Given the description of an element on the screen output the (x, y) to click on. 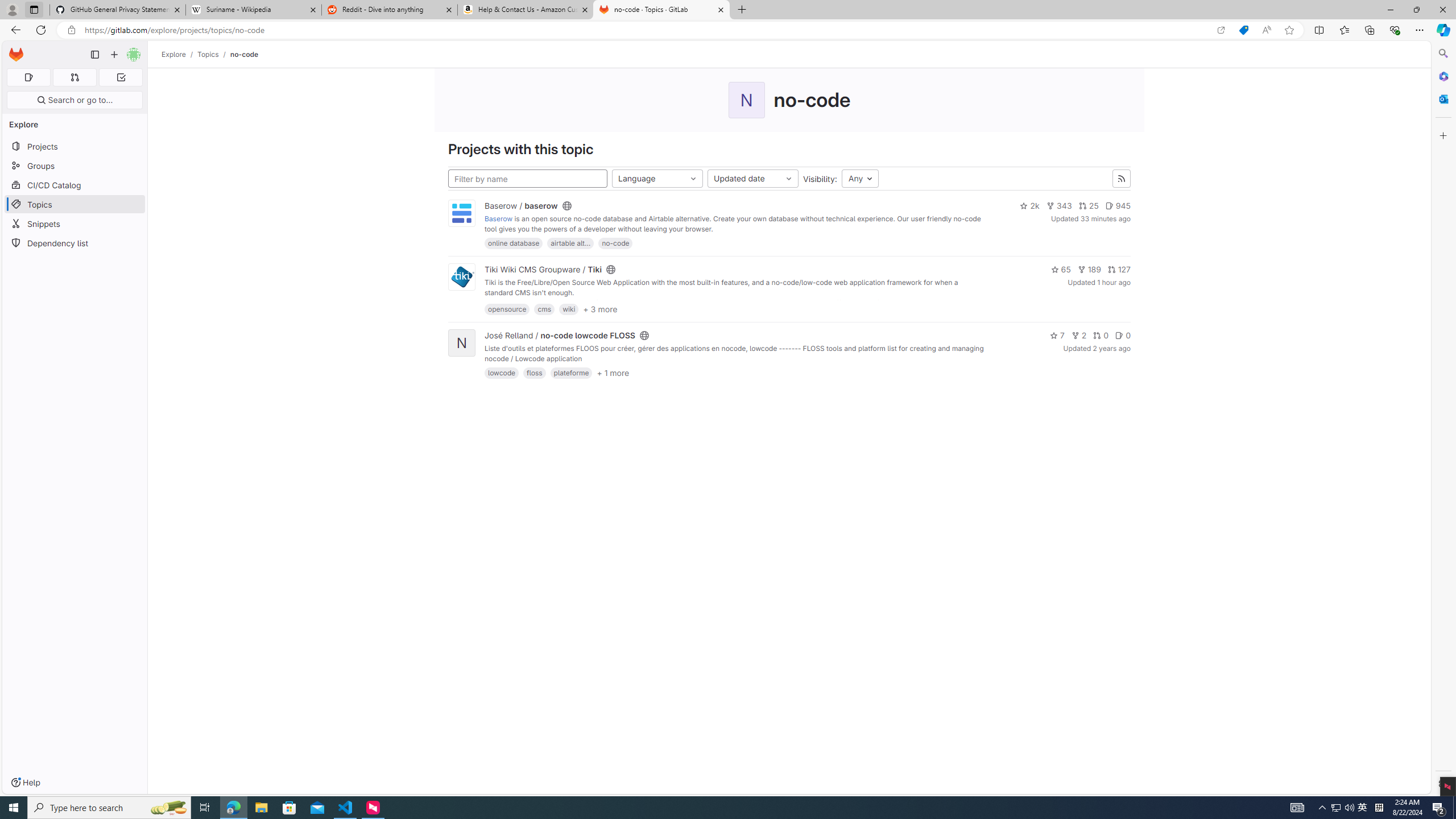
Groups (74, 165)
Baserow / baserow (520, 205)
Create new... (113, 54)
+ 1 more (612, 371)
7 (1056, 335)
Suriname - Wikipedia (253, 9)
25 (1088, 205)
To-Do list 0 (120, 76)
Assigned issues 0 (28, 76)
